Given the description of an element on the screen output the (x, y) to click on. 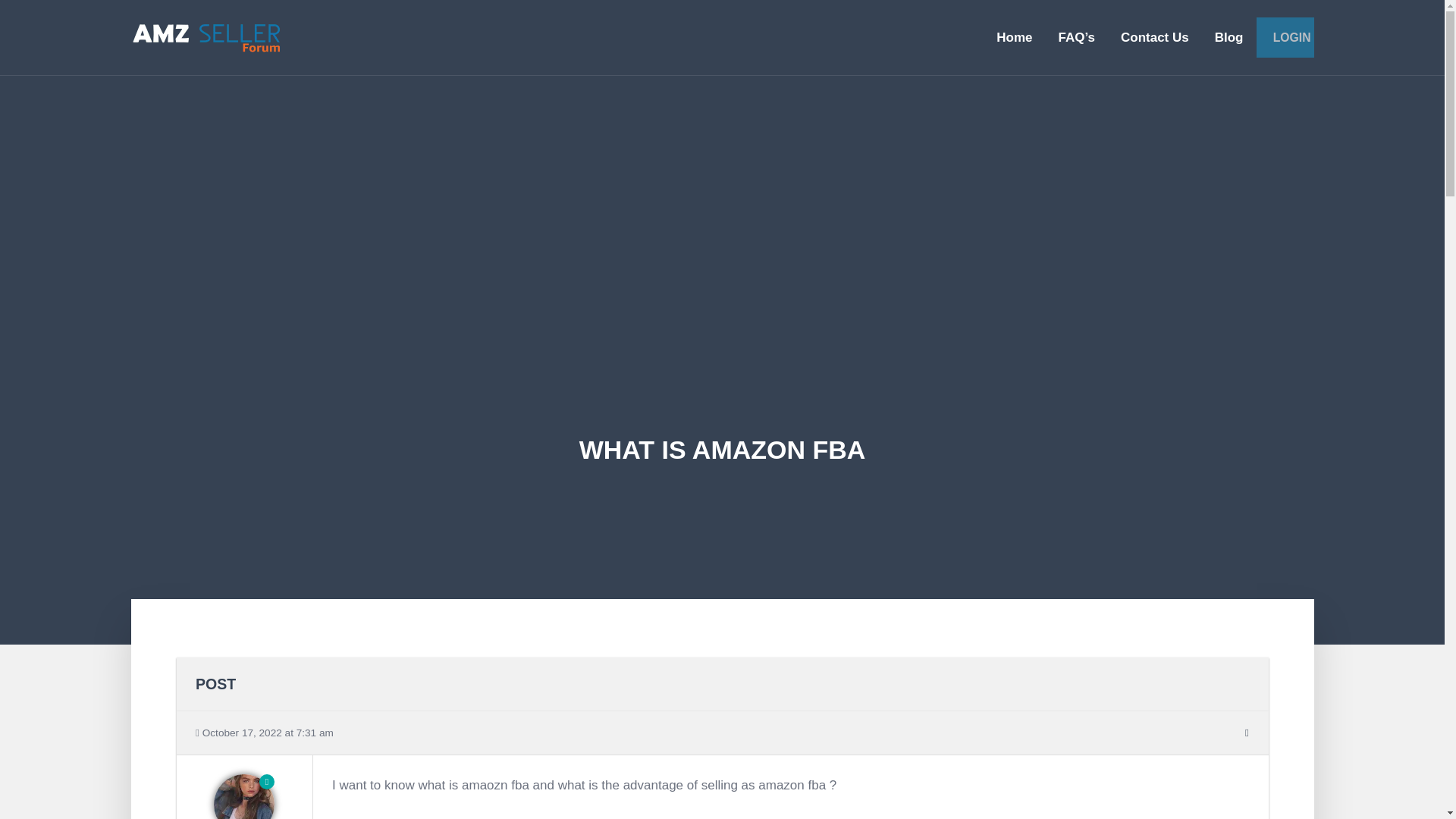
Contact Us (1155, 38)
LOGIN (1284, 37)
Verified User (243, 796)
